Given the description of an element on the screen output the (x, y) to click on. 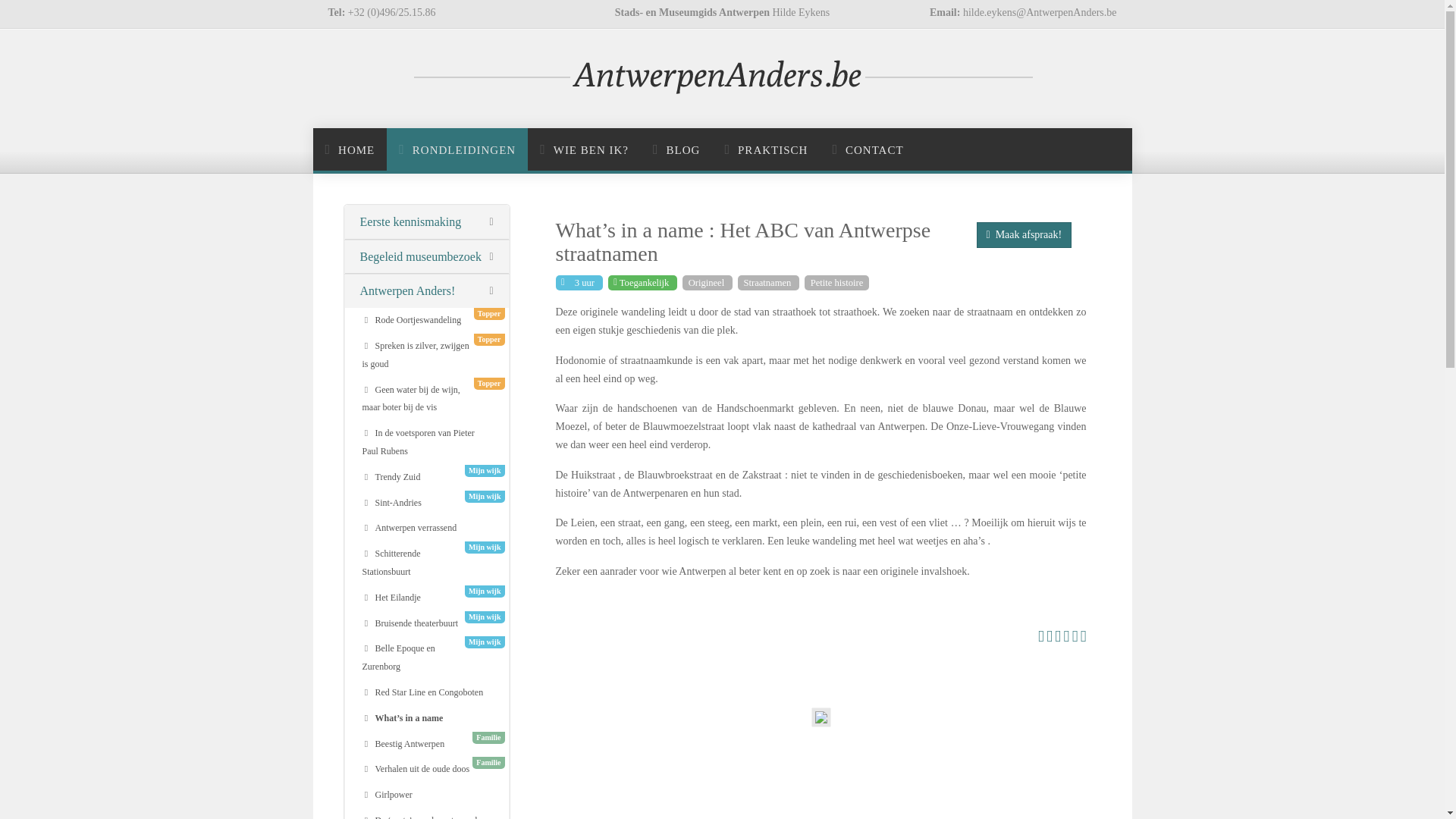
Belle Epoque en Zurenborg Element type: text (426, 658)
Red Star Line en Congoboten Element type: text (426, 693)
Share on Google+ Element type: hover (1057, 637)
Antwerpen Anders! Element type: text (426, 290)
Trendy Zuid Element type: text (426, 477)
  Maak afspraak! Element type: text (1024, 233)
Tweet Element type: hover (1049, 637)
Send email Element type: hover (1083, 637)
Schitterende Stationsbuurt Element type: text (426, 563)
Girlpower Element type: text (426, 795)
  Maak afspraak! Element type: text (1024, 234)
Geen water bij de wijn, maar boter bij de vis Element type: text (426, 399)
RONDLEIDINGEN Element type: text (456, 150)
Verhalen uit de oude doos Element type: text (426, 769)
PRAKTISCH Element type: text (765, 150)
Spreken is zilver, zwijgen is goud Element type: text (426, 355)
Antwerpen verrassend Element type: text (426, 528)
Beestig Antwerpen Element type: text (426, 744)
CONTACT Element type: text (867, 150)
WIE BEN IK? Element type: text (583, 150)
In de voetsporen van Pieter Paul Rubens Element type: text (426, 442)
BLOG Element type: text (676, 150)
Sint-Andries Element type: text (426, 503)
Rode Oortjeswandeling Element type: text (426, 320)
Pin it Element type: hover (1066, 637)
Begeleid museumbezoek Element type: text (426, 257)
Bruisende theaterbuurt Element type: text (426, 624)
HOME Element type: text (349, 150)
Het Eilandje Element type: text (426, 598)
Eerste kennismaking Element type: text (426, 222)
Share on Facebook Element type: hover (1041, 637)
Share on LinkedIn Element type: hover (1075, 637)
